Given the description of an element on the screen output the (x, y) to click on. 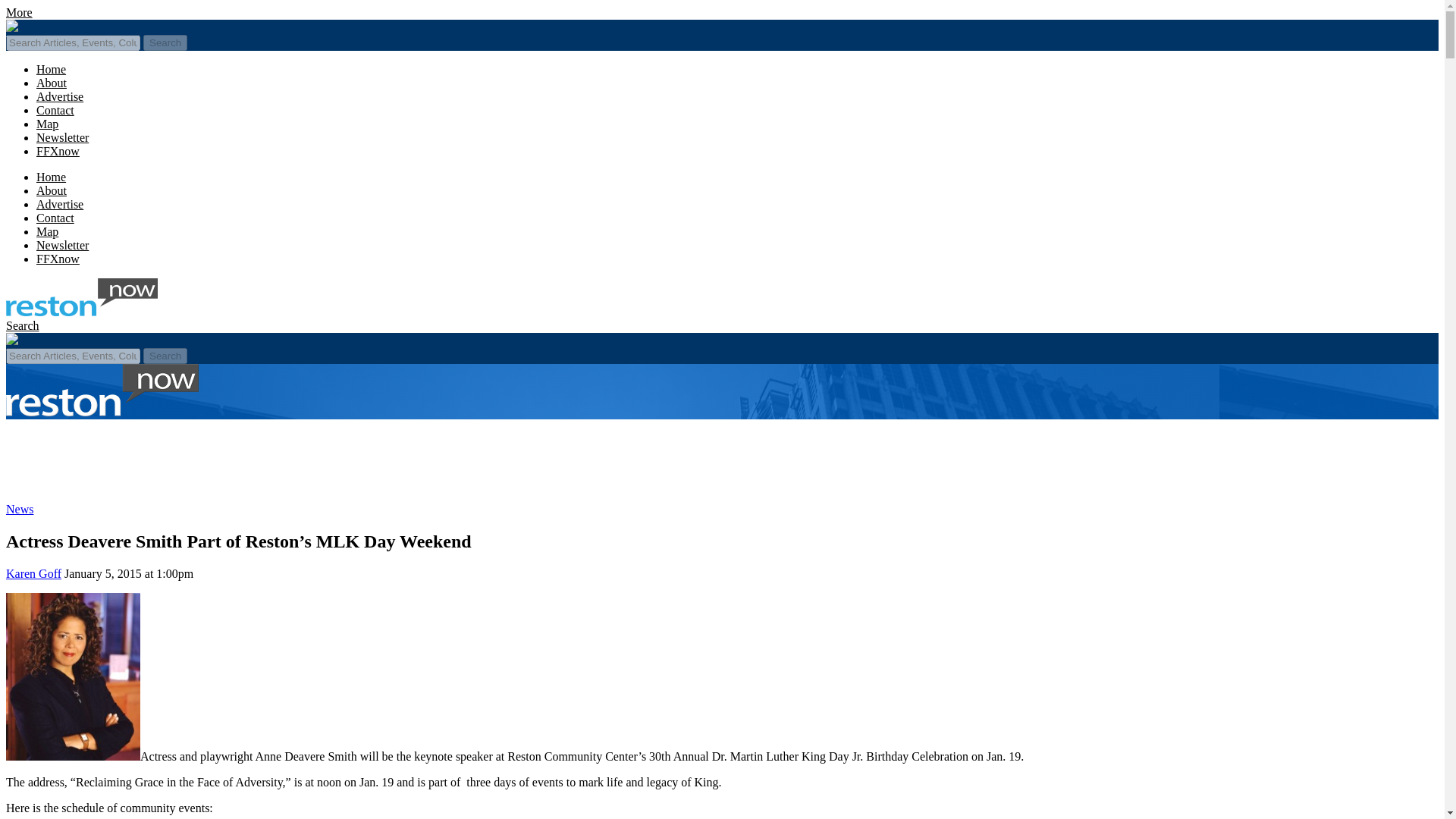
Contact (55, 217)
Advertise (59, 96)
Newsletter (62, 137)
Newsletter (62, 245)
Home (50, 69)
FFXnow (58, 258)
More (18, 11)
About (51, 82)
Posts by Karen Goff (33, 573)
Search (22, 325)
Advertise (59, 204)
Map (47, 123)
Home (50, 176)
Search (164, 42)
Search (164, 355)
